Given the description of an element on the screen output the (x, y) to click on. 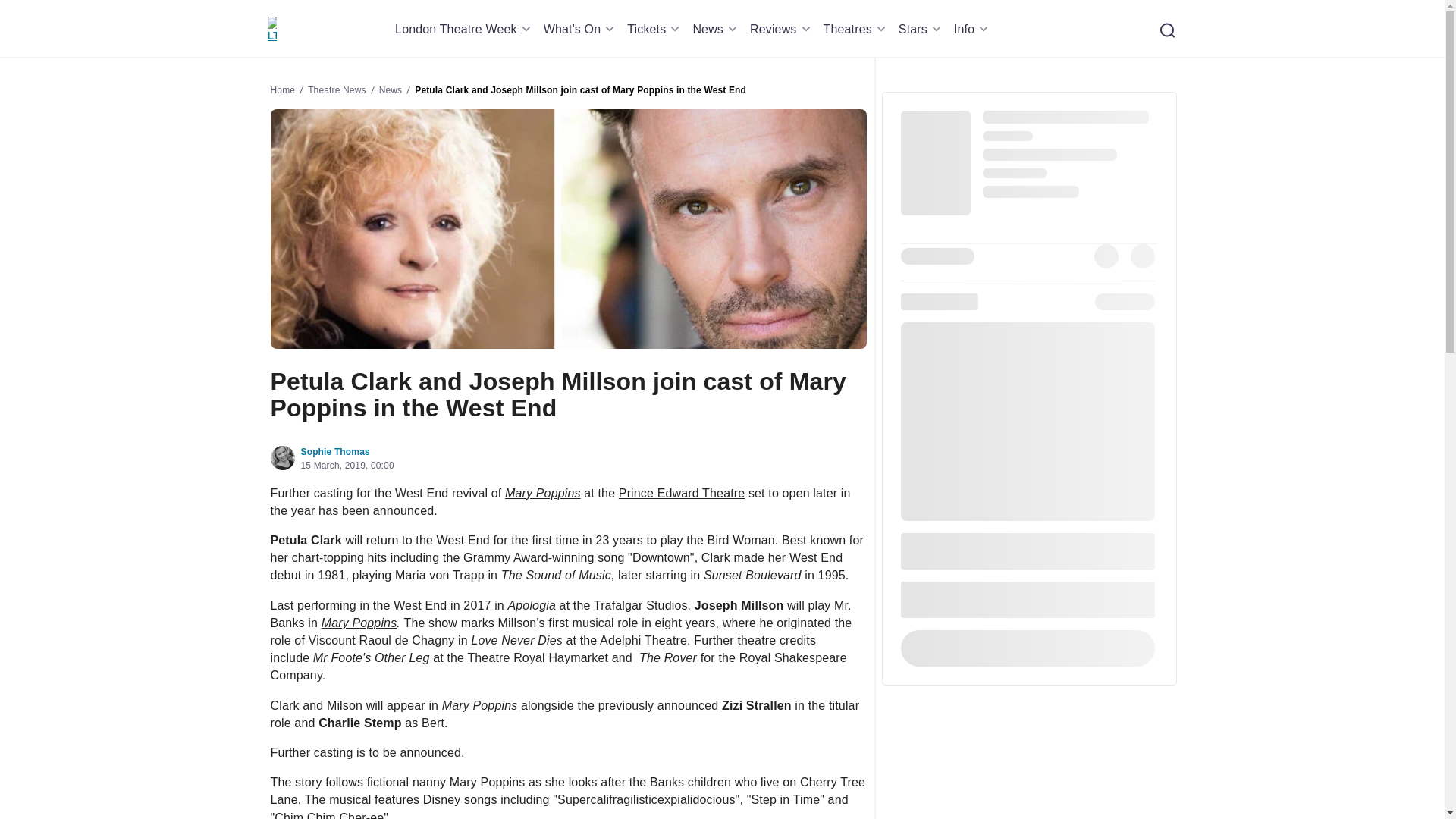
London Theatre Week (464, 28)
What's On (581, 28)
Tickets (655, 28)
